Given the description of an element on the screen output the (x, y) to click on. 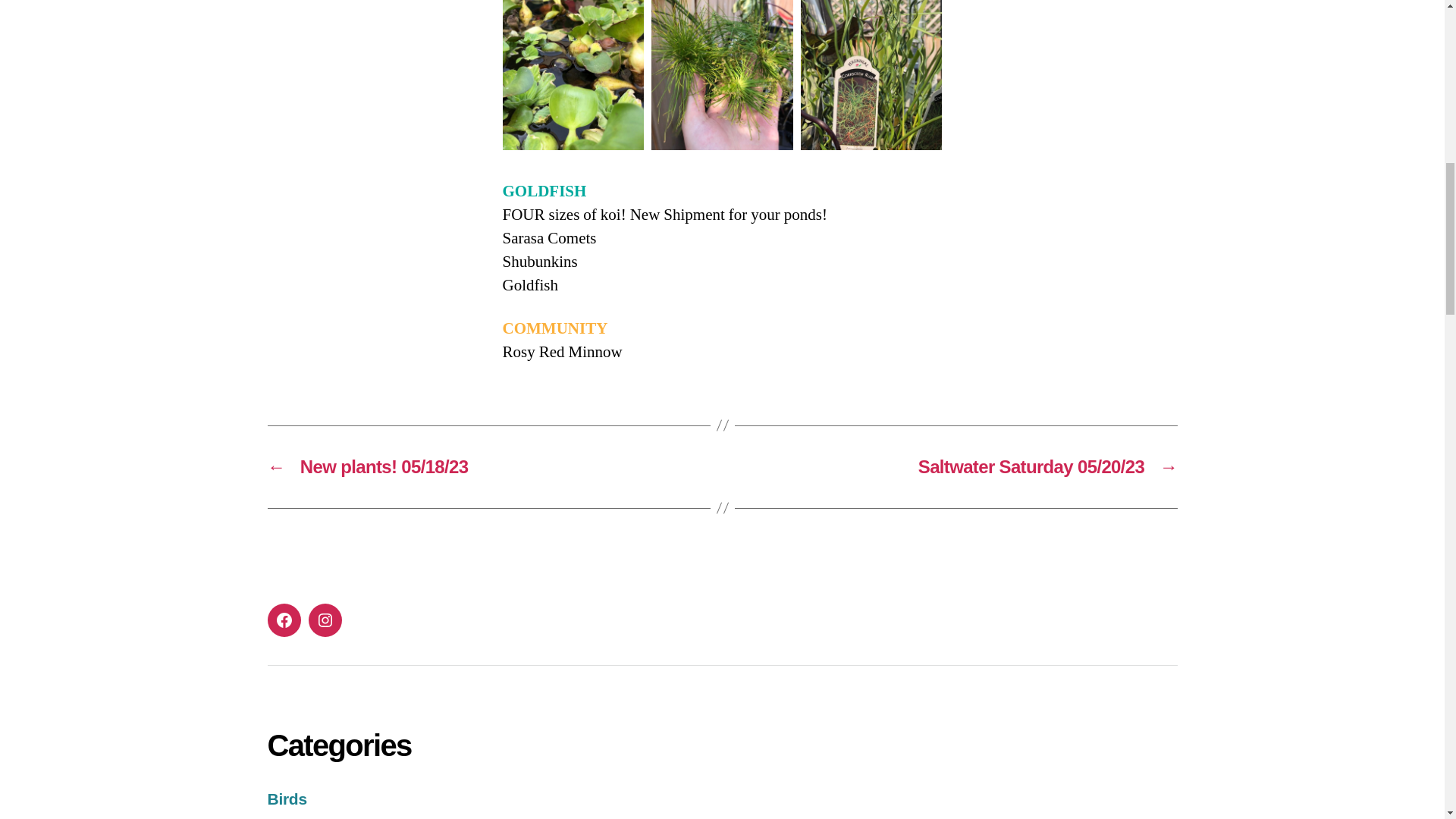
Instagram (323, 620)
Facebook (282, 620)
Birds (285, 798)
Find us on Facebook (282, 620)
Freshwater (307, 817)
Instagram (323, 620)
